Given the description of an element on the screen output the (x, y) to click on. 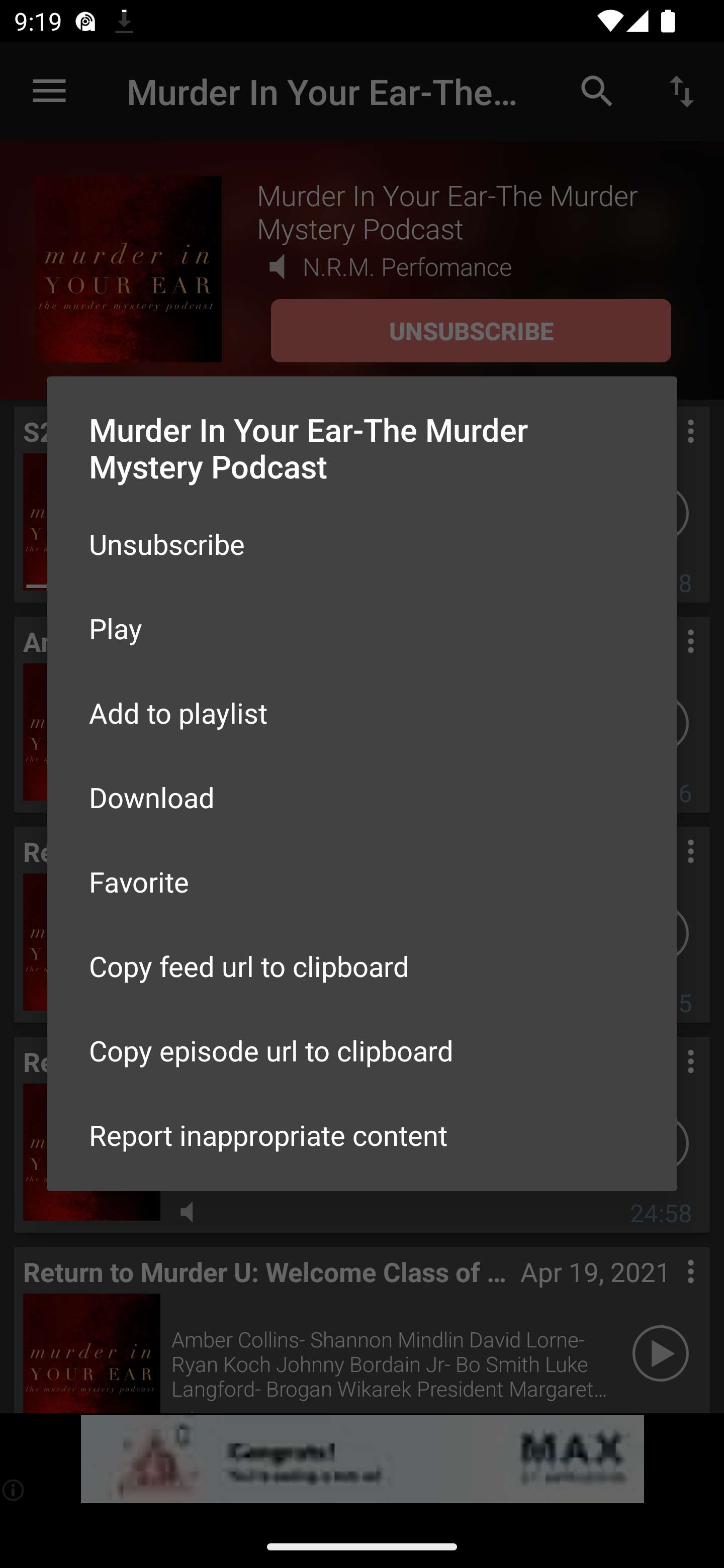
Unsubscribe (361, 543)
Play (361, 628)
Add to playlist (361, 712)
Download (361, 796)
Favorite (361, 880)
Copy feed url to clipboard (361, 965)
Copy episode url to clipboard (361, 1050)
Report inappropriate content (361, 1134)
